Given the description of an element on the screen output the (x, y) to click on. 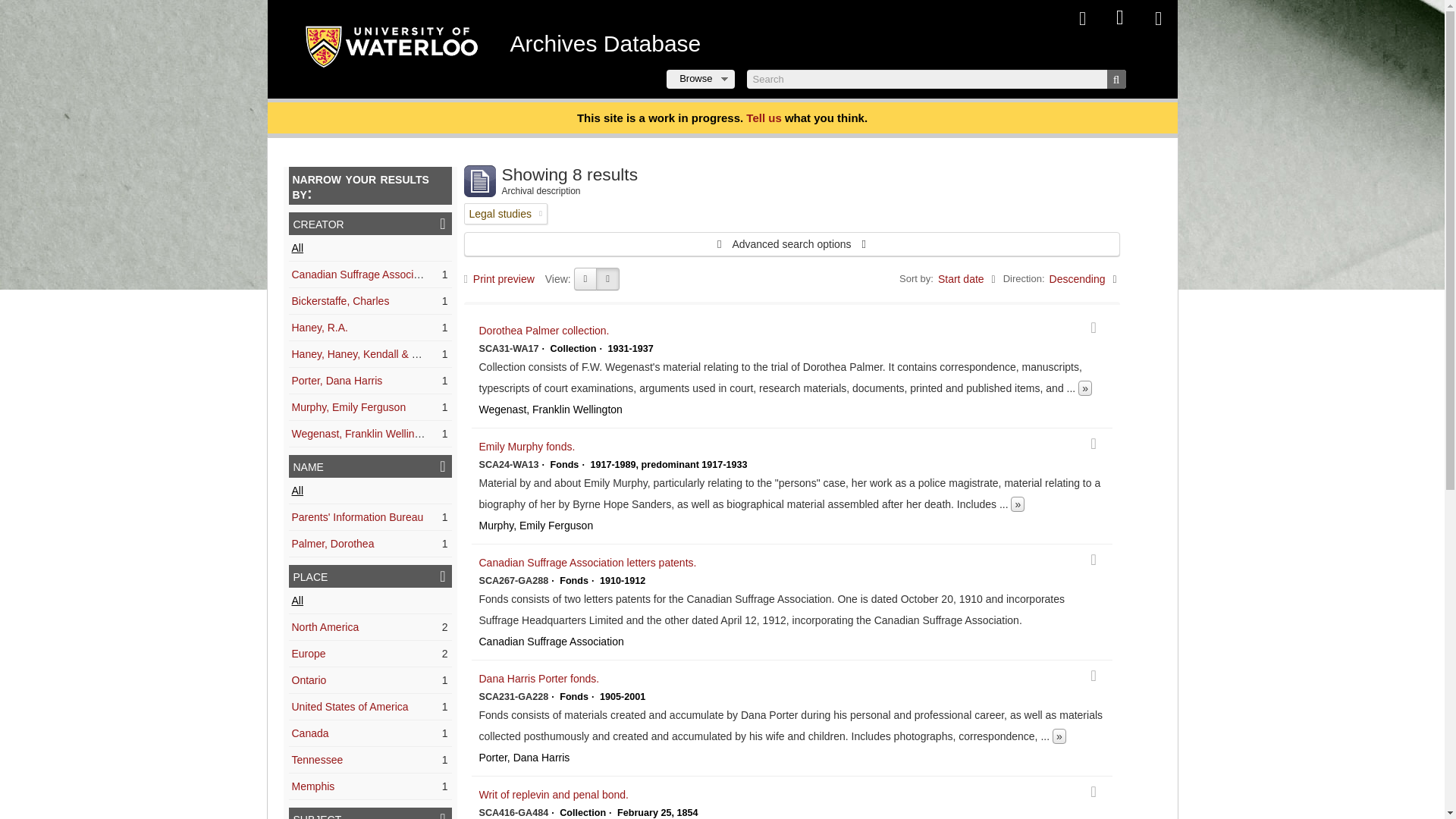
All (296, 490)
Bickerstaffe, Charles (339, 300)
creator (369, 223)
name (369, 466)
Quick links (1157, 18)
Murphy, Emily Ferguson (348, 407)
Archives Database (604, 43)
Haney, R.A. (319, 327)
Canadian Suffrage Association (363, 274)
Porter, Dana Harris (336, 380)
Wegenast, Franklin Wellington (362, 433)
Browse (699, 78)
Clipboard (1081, 18)
All (296, 247)
Tell us (762, 117)
